Given the description of an element on the screen output the (x, y) to click on. 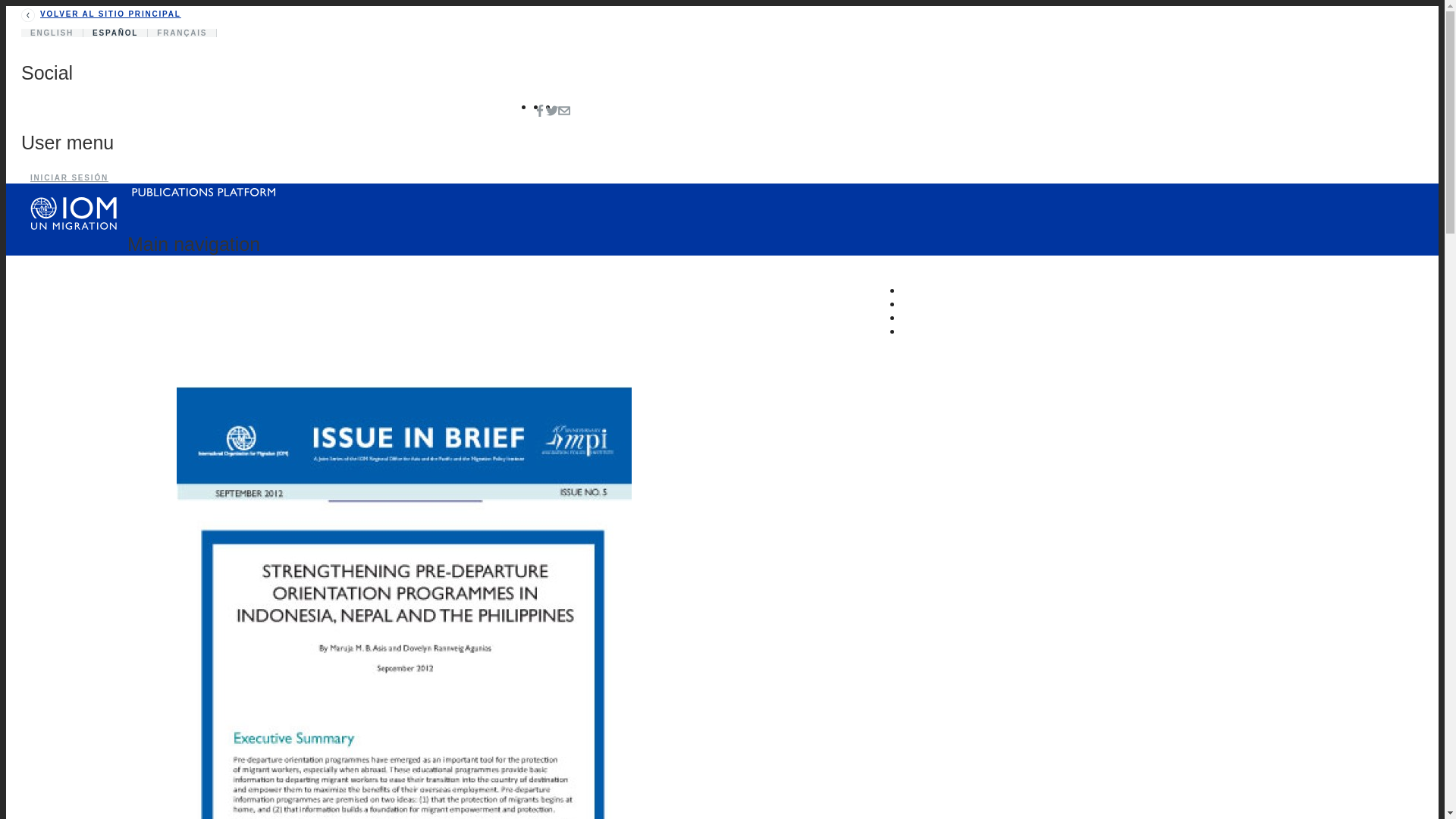
Pasar al contenido principal (722, 7)
Inicio (203, 196)
VOLVER AL SITIO PRINCIPAL (100, 13)
CONTACTA CON NOSOTROS (1011, 304)
Email (563, 110)
SOBRE NOSOTROS (981, 290)
ENGLISH (51, 32)
Facebook (540, 110)
Twitter (551, 110)
MI LISTA DE LECTURA (993, 331)
